Given the description of an element on the screen output the (x, y) to click on. 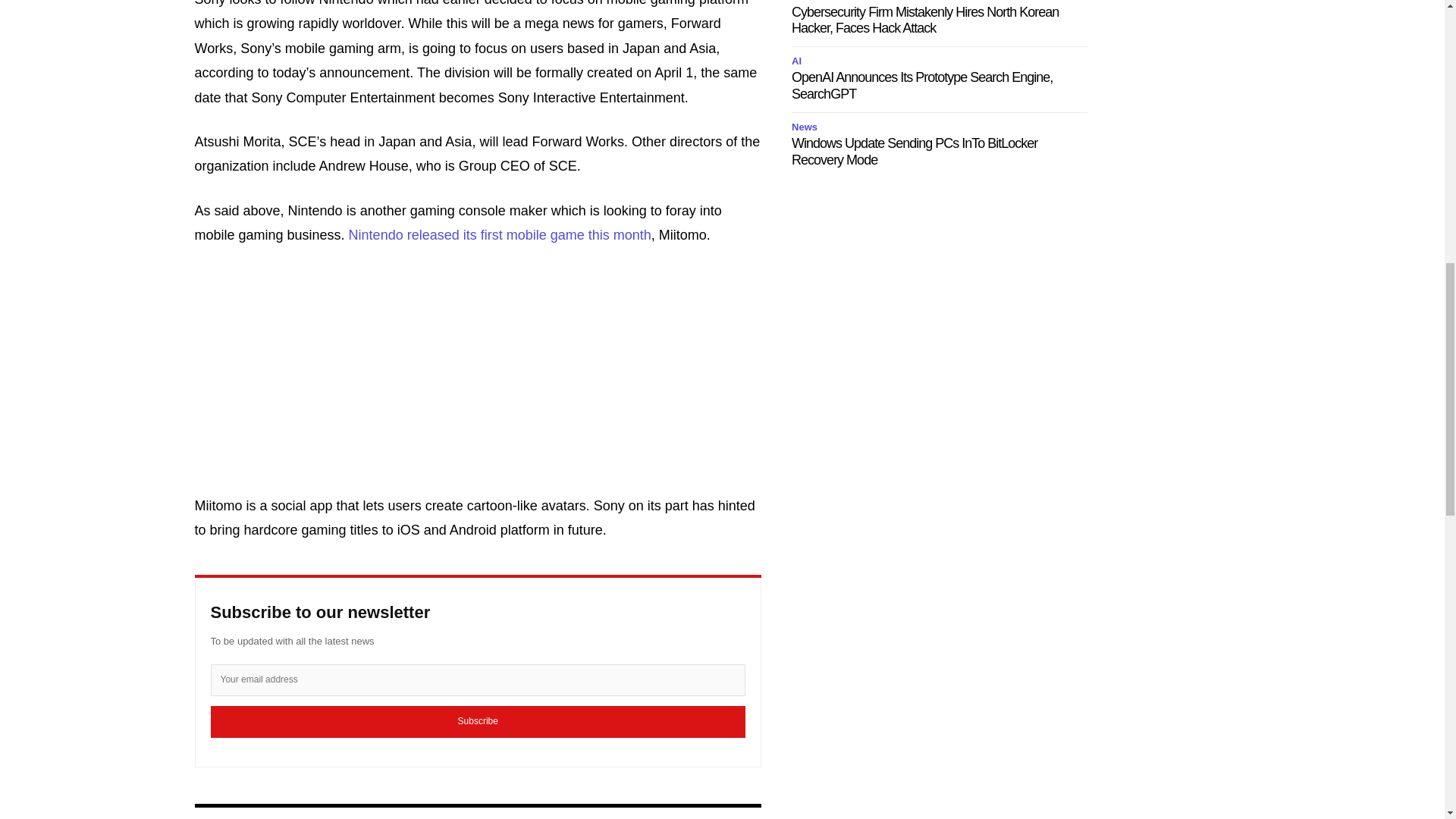
Nintendo released its first mobile game this month (499, 234)
Subscribe (478, 721)
News (807, 2)
